Given the description of an element on the screen output the (x, y) to click on. 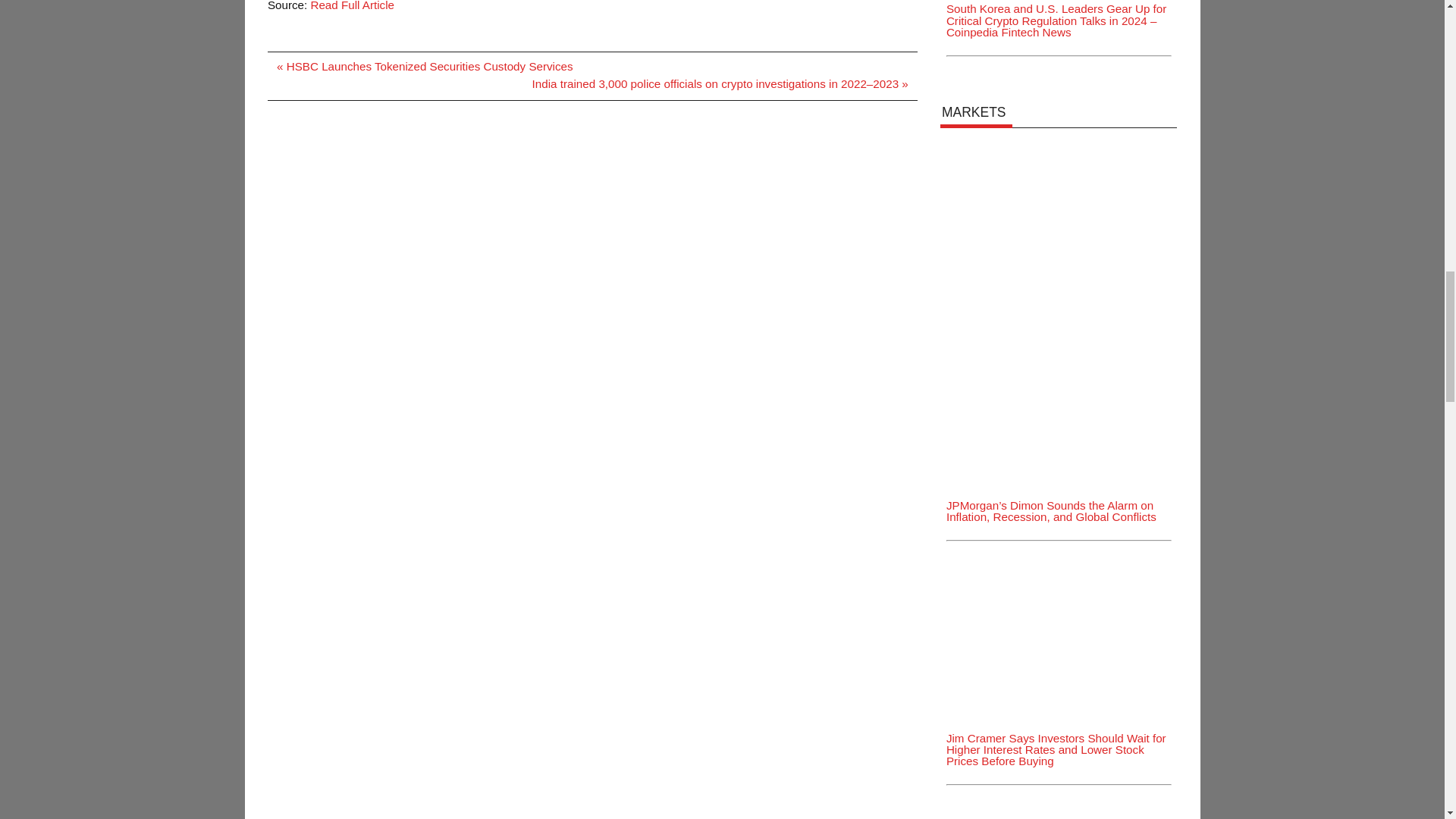
Read Full Article (352, 5)
